Given the description of an element on the screen output the (x, y) to click on. 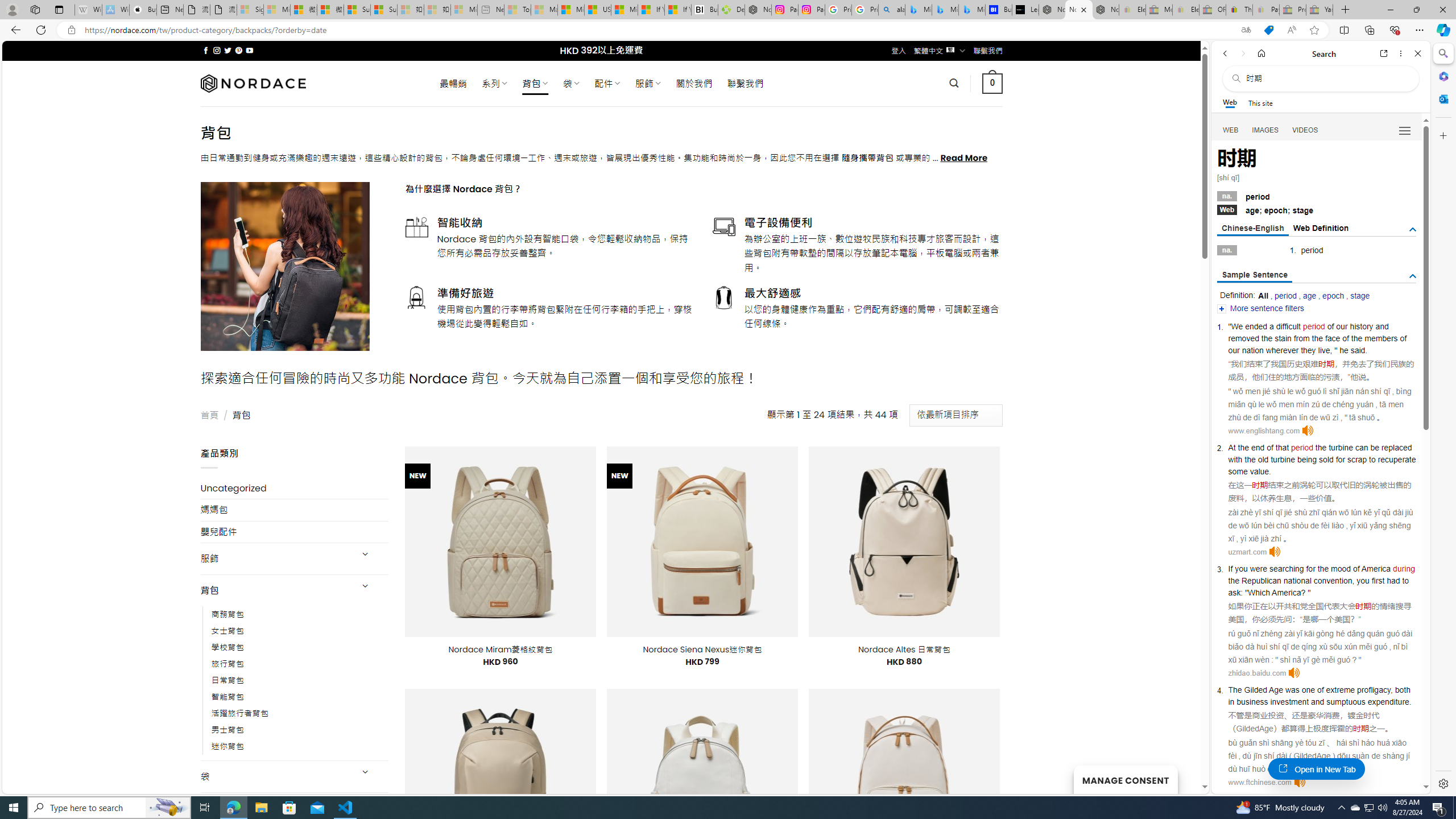
New tab (169, 9)
Sign in to your Microsoft account - Sleeping (249, 9)
ask (1233, 592)
